Given the description of an element on the screen output the (x, y) to click on. 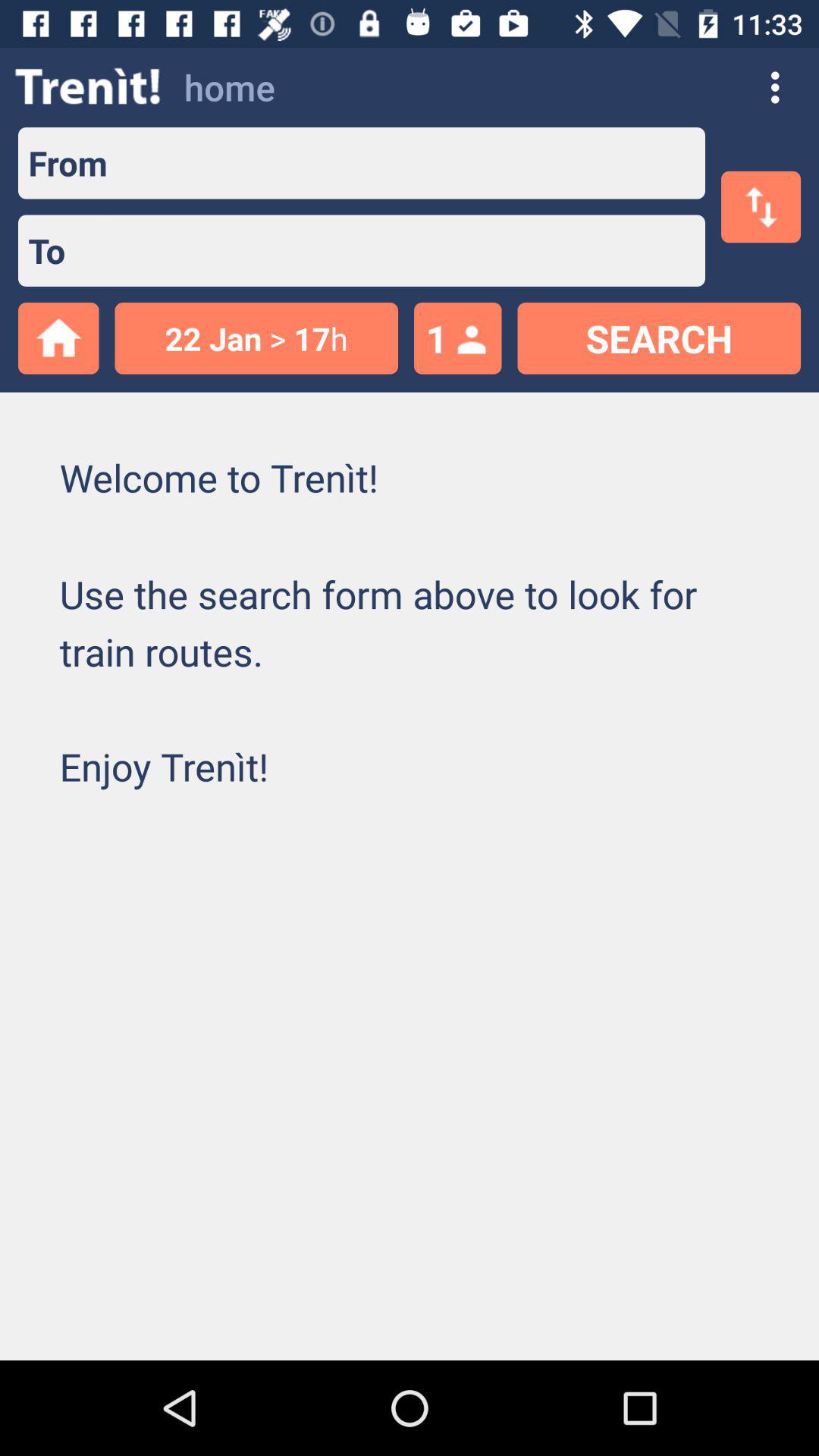
turn off item next to the home icon (88, 87)
